Given the description of an element on the screen output the (x, y) to click on. 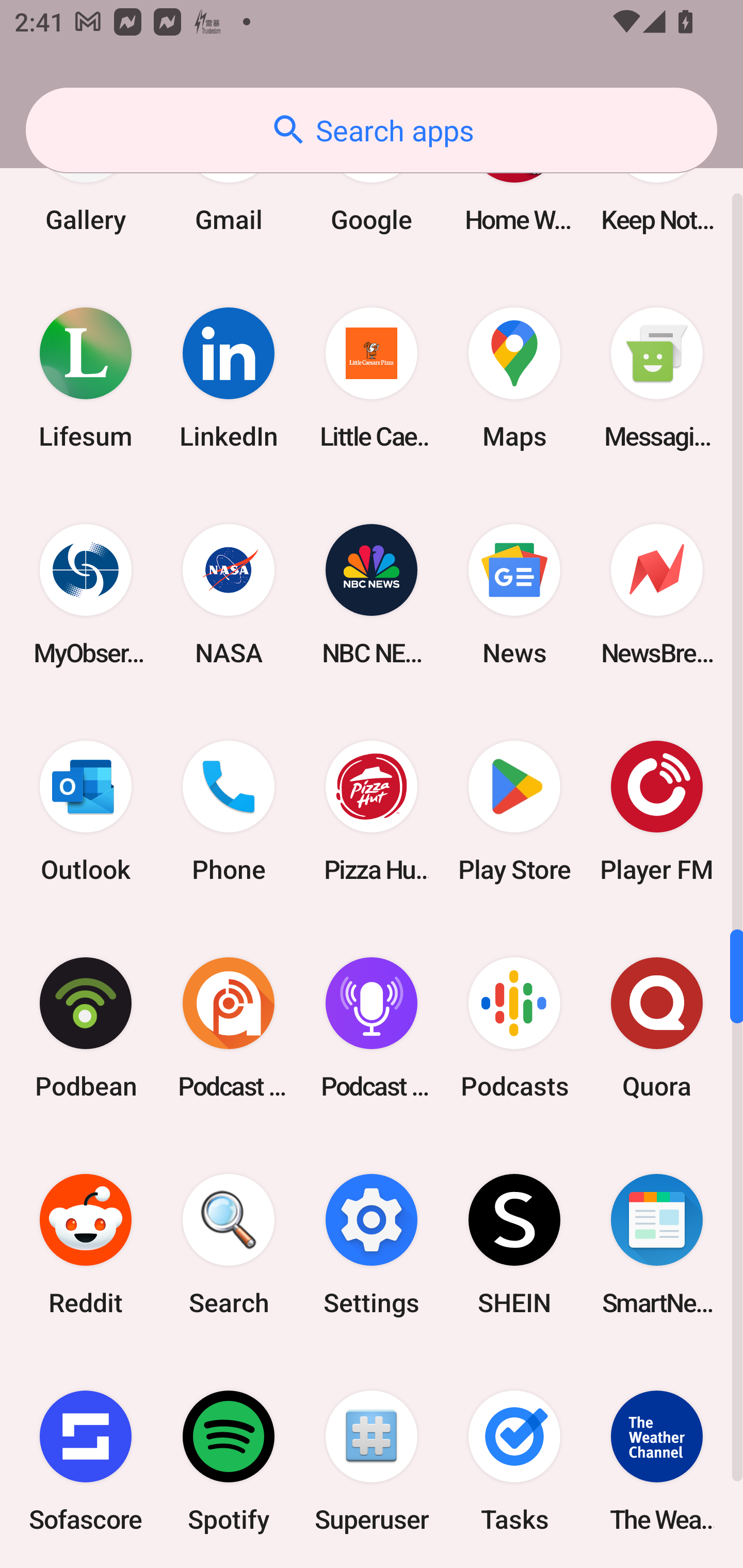
Keep Notes (656, 186)
Lifesum (85, 377)
LinkedIn (228, 377)
Little Caesars Pizza (371, 377)
Maps (514, 377)
Messaging (656, 377)
MyObservatory (85, 594)
NASA (228, 594)
NBC NEWS (371, 594)
News (514, 594)
NewsBreak (656, 594)
Outlook (85, 811)
Phone (228, 811)
Pizza Hut HK & Macau (371, 811)
Play Store (514, 811)
Player FM (656, 811)
Podbean (85, 1028)
Podcast Addict (228, 1028)
Podcast Player (371, 1028)
Podcasts (514, 1028)
Quora (656, 1028)
Reddit (85, 1244)
Search (228, 1244)
Settings (371, 1244)
SHEIN (514, 1244)
SmartNews (656, 1244)
Sofascore (85, 1460)
Spotify (228, 1460)
Superuser (371, 1460)
Tasks (514, 1460)
The Weather Channel (656, 1460)
